Given the description of an element on the screen output the (x, y) to click on. 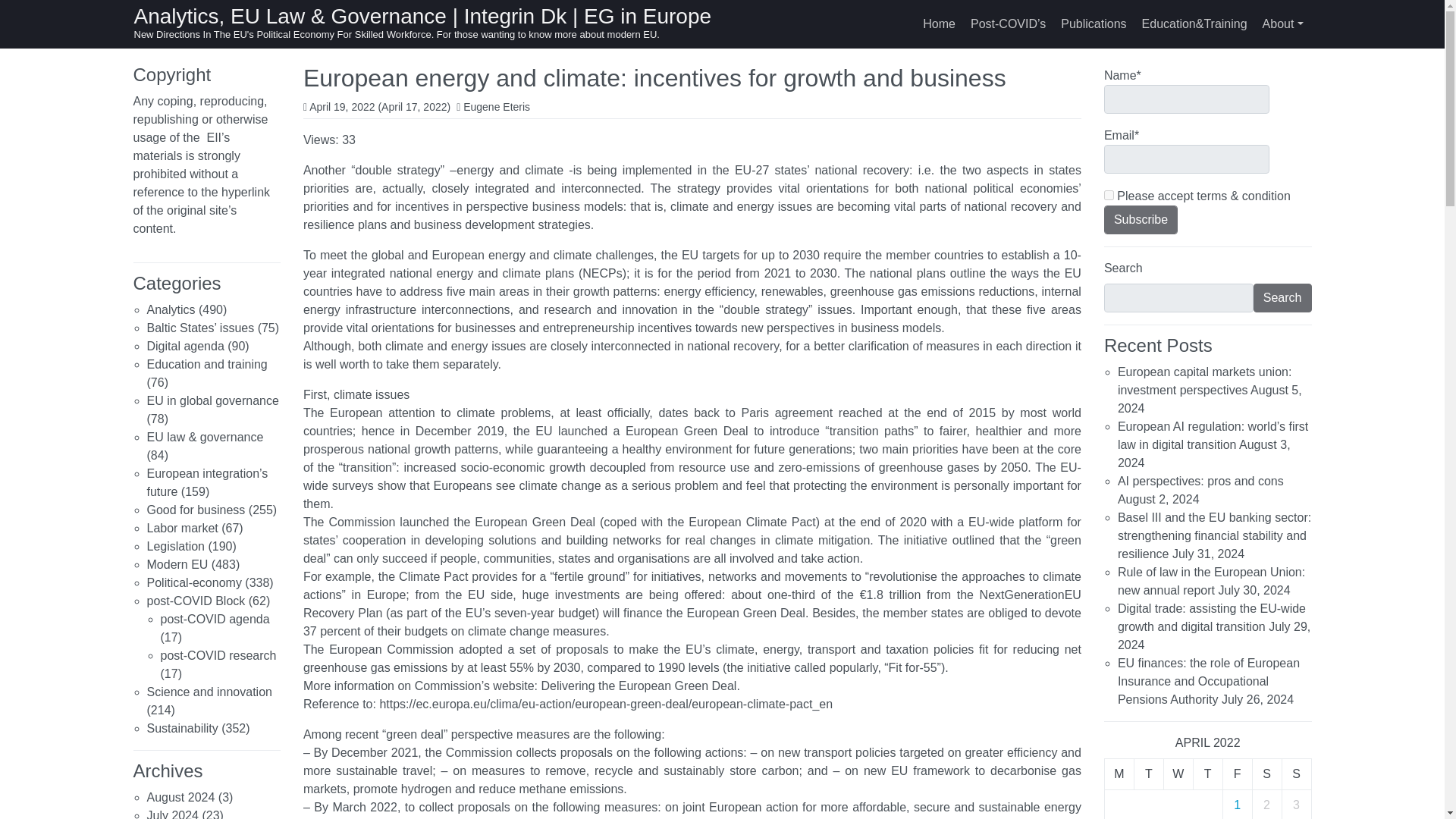
Sustainability (182, 727)
post-COVID agenda (214, 618)
Legislation (176, 545)
Skip to content (17, 14)
EU in global governance (213, 400)
Subscribe (1140, 219)
Wednesday (1177, 773)
Saturday (1266, 773)
true (1108, 194)
Analytics (171, 309)
